Given the description of an element on the screen output the (x, y) to click on. 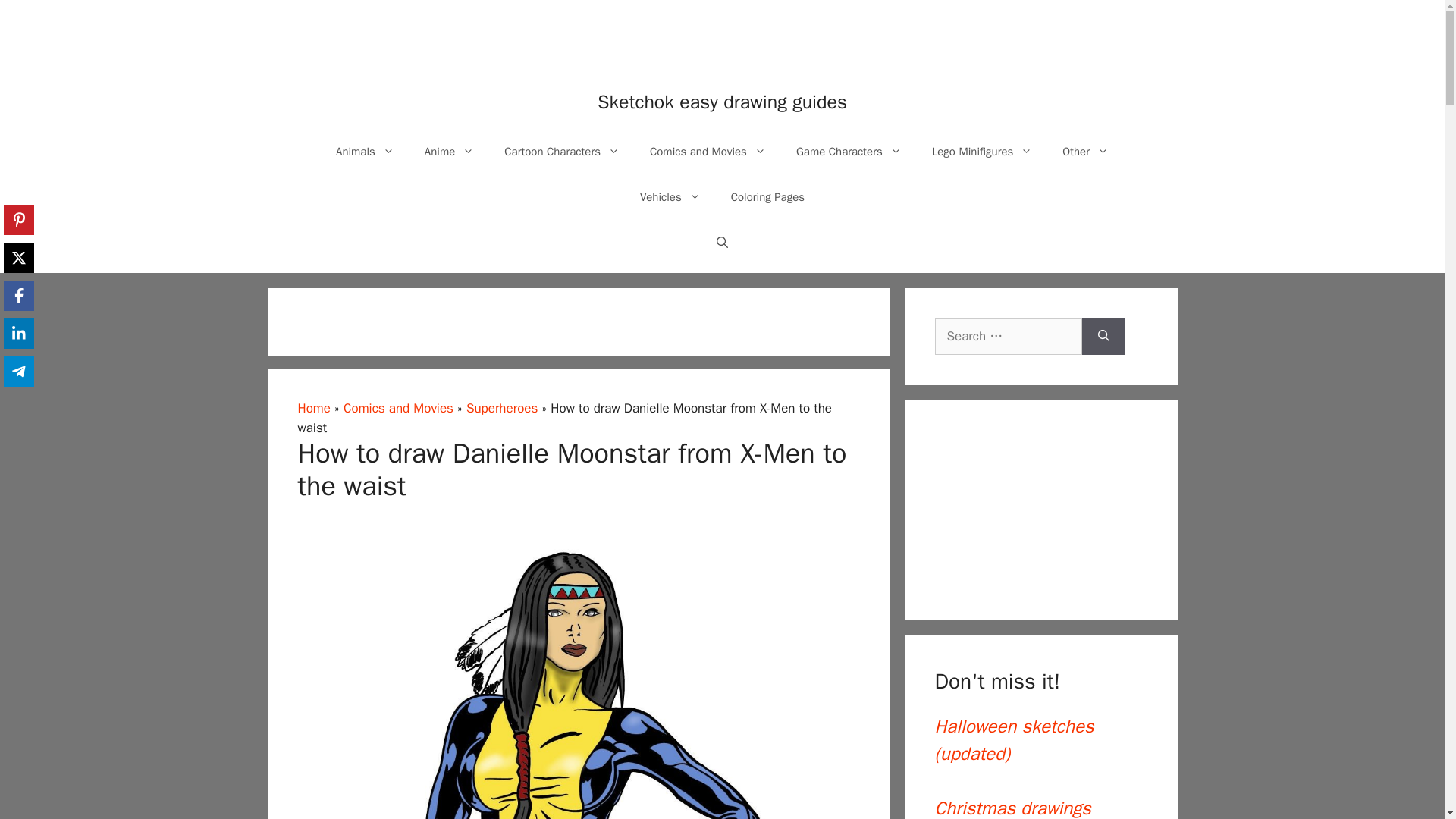
Animals (364, 151)
Search for: (1007, 336)
Sketchok easy drawing guides (721, 101)
Anime (449, 151)
